Given the description of an element on the screen output the (x, y) to click on. 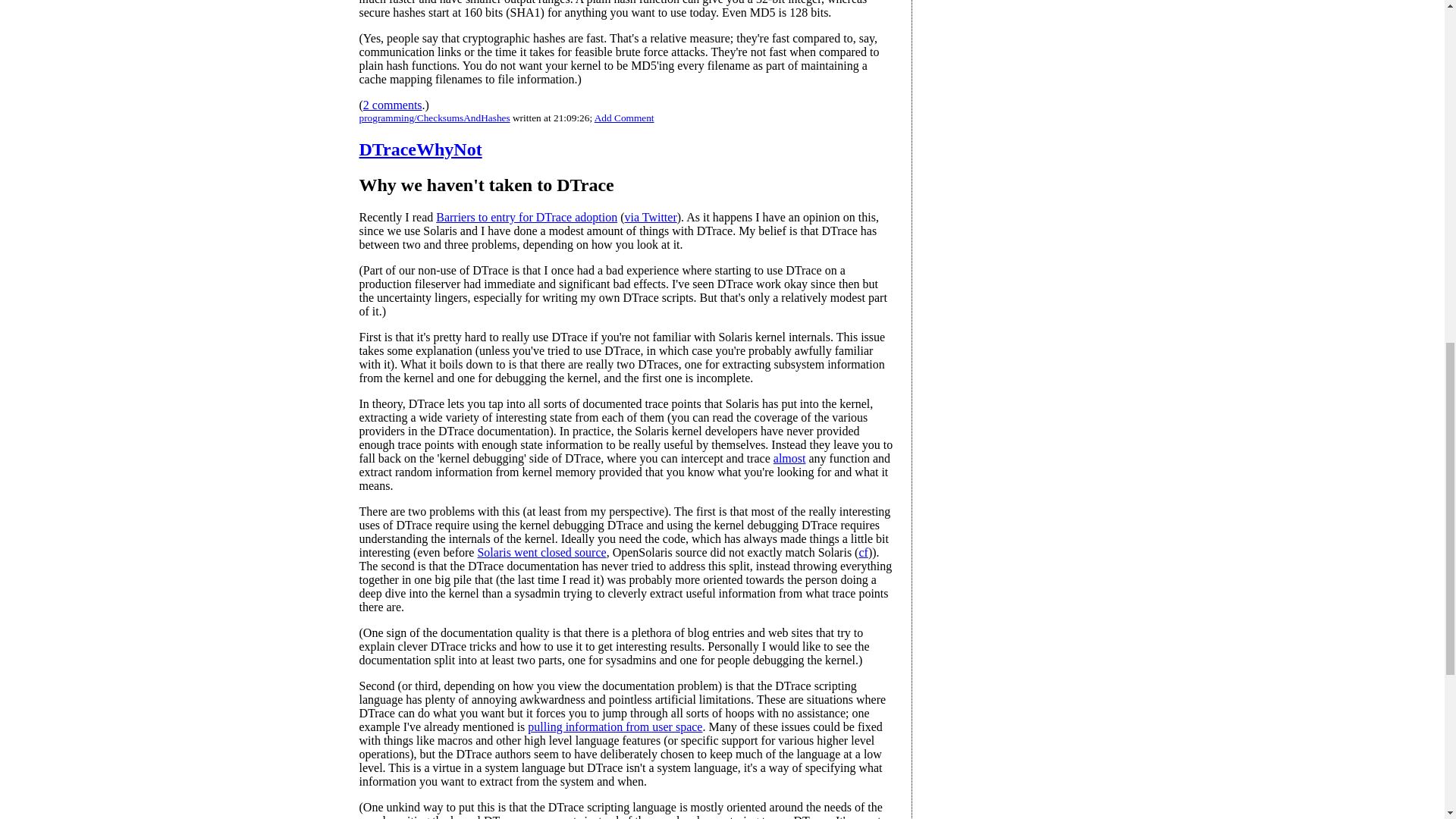
DTraceWhyNot (420, 148)
2 comments (392, 104)
almost (789, 458)
pulling information from user space (614, 726)
Solaris went closed source (541, 552)
Barriers to entry for DTrace adoption (526, 216)
via Twitter (650, 216)
Add Comment (623, 117)
